Given the description of an element on the screen output the (x, y) to click on. 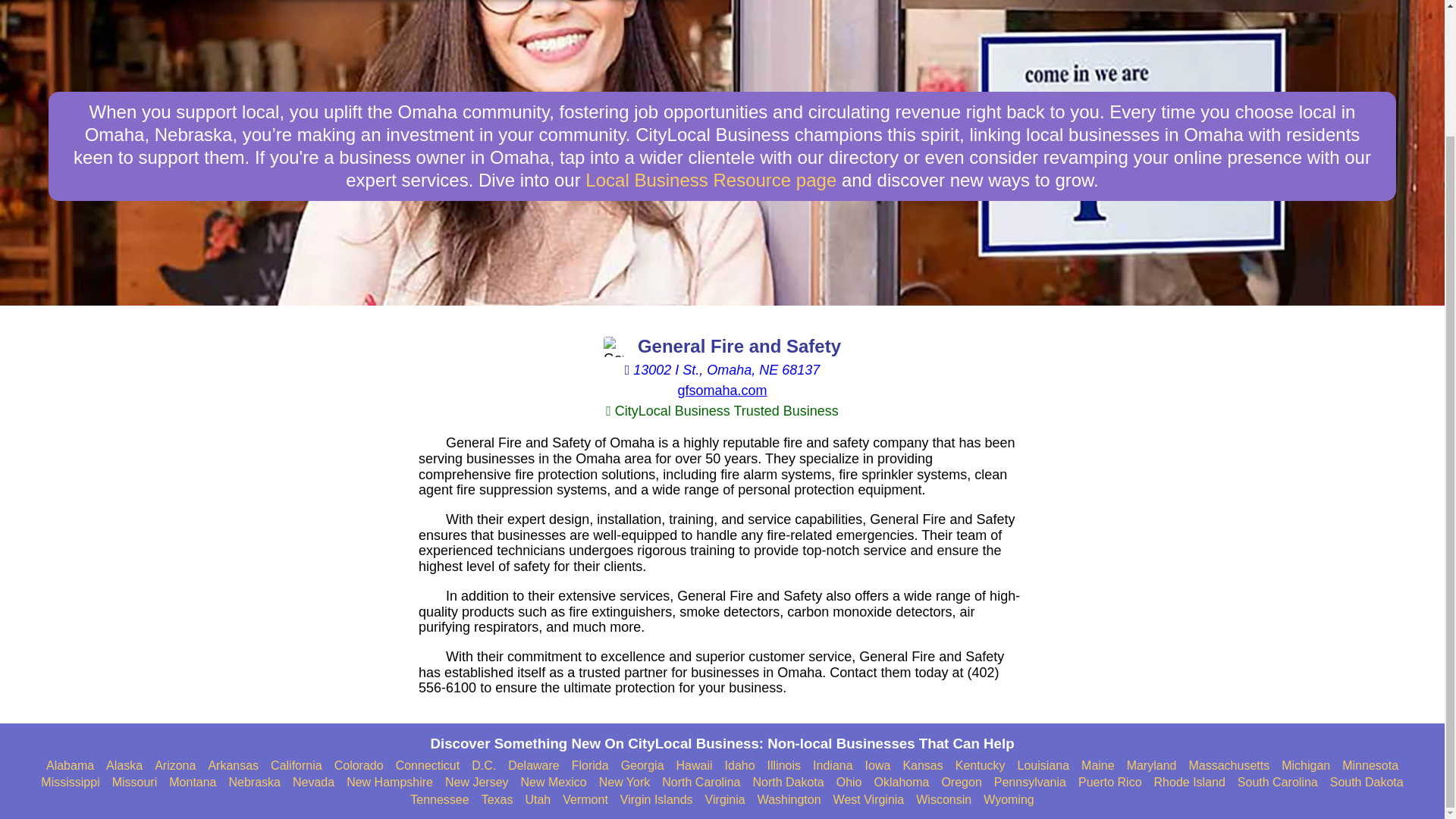
Find Businesses in Georgia (642, 766)
D.C. (483, 766)
Arkansas (233, 766)
Nebraska (254, 782)
Find Businesses in Florida (590, 766)
Find Businesses in Arkansas (233, 766)
Find Businesses in Colorado (359, 766)
Louisiana (1043, 766)
New Jersey (476, 782)
Find Businesses in California (295, 766)
